Given the description of an element on the screen output the (x, y) to click on. 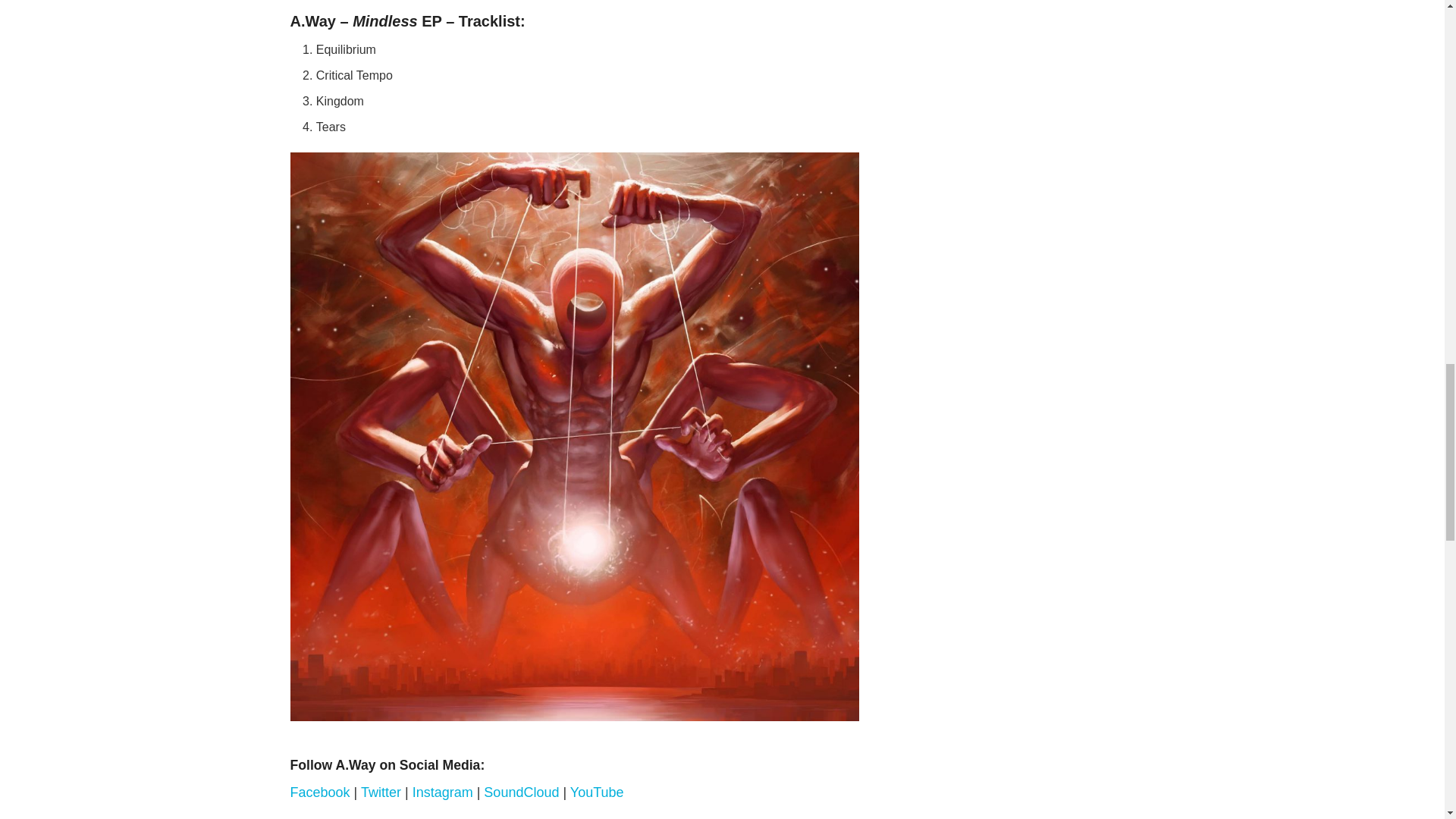
SoundCloud (521, 792)
Instagram (442, 792)
Facebook (319, 792)
YouTube (597, 792)
Twitter (382, 792)
